Given the description of an element on the screen output the (x, y) to click on. 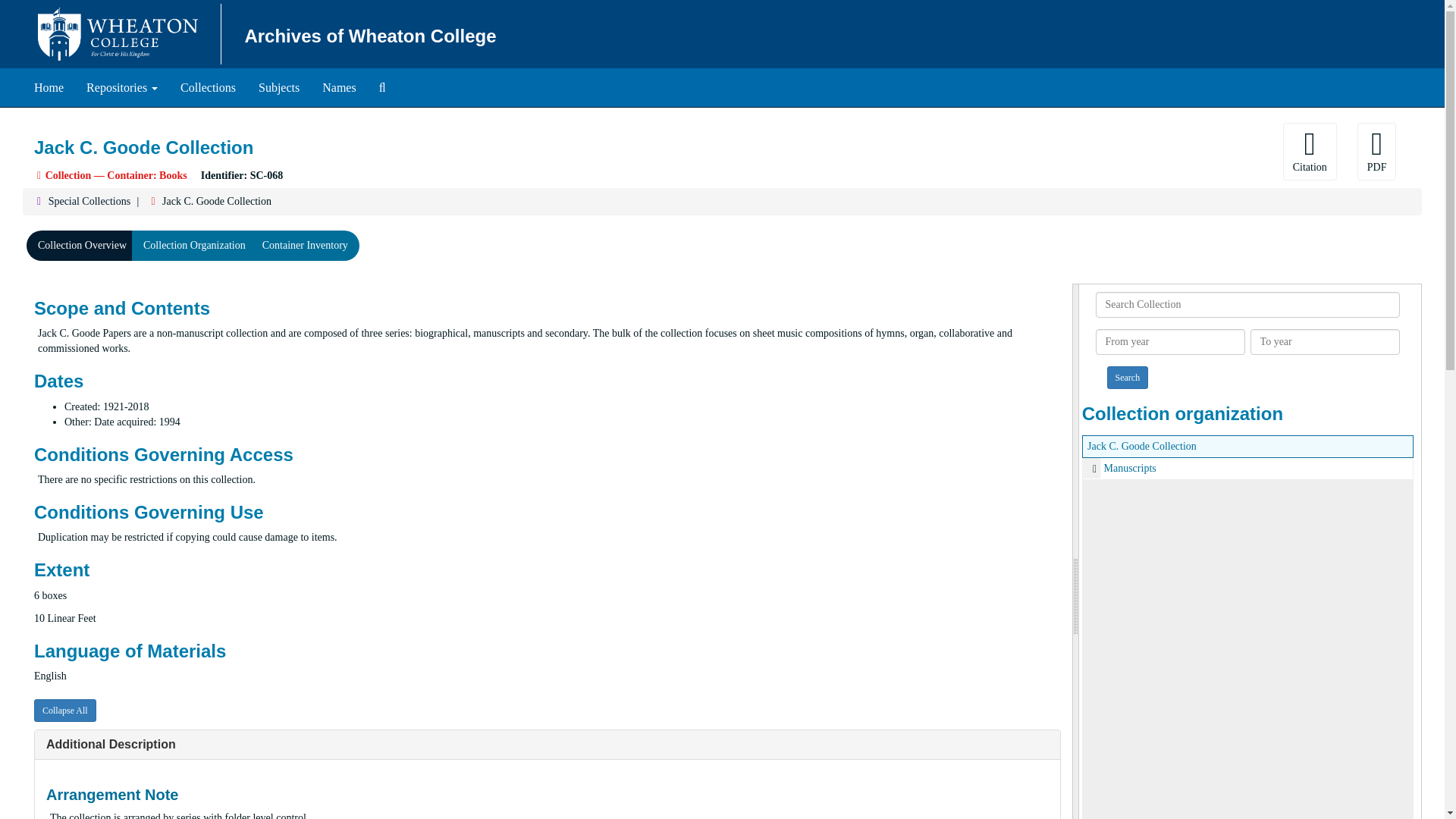
Container Inventory (304, 245)
Additional Description (111, 744)
Collections (207, 87)
Return to the Archives of Wheaton College homepage (370, 35)
Citation (1309, 151)
Return to the Archives of Wheaton College homepage (49, 87)
Names (338, 87)
Collection Overview (82, 245)
Repositories (121, 87)
Archives of Wheaton College (370, 35)
Search (1127, 377)
Manuscripts (1247, 468)
Collection Organization (194, 245)
Page Actions (49, 87)
